Given the description of an element on the screen output the (x, y) to click on. 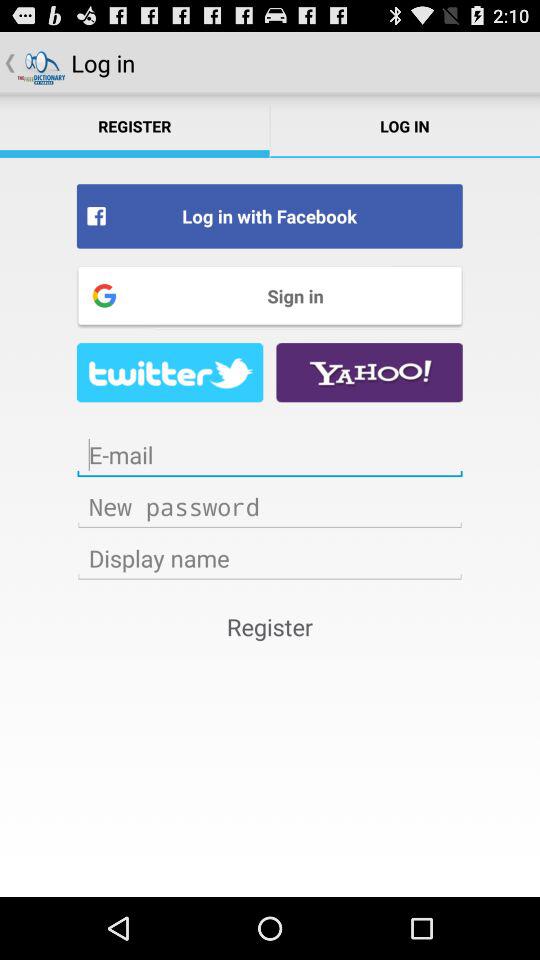
screen button (269, 455)
